Given the description of an element on the screen output the (x, y) to click on. 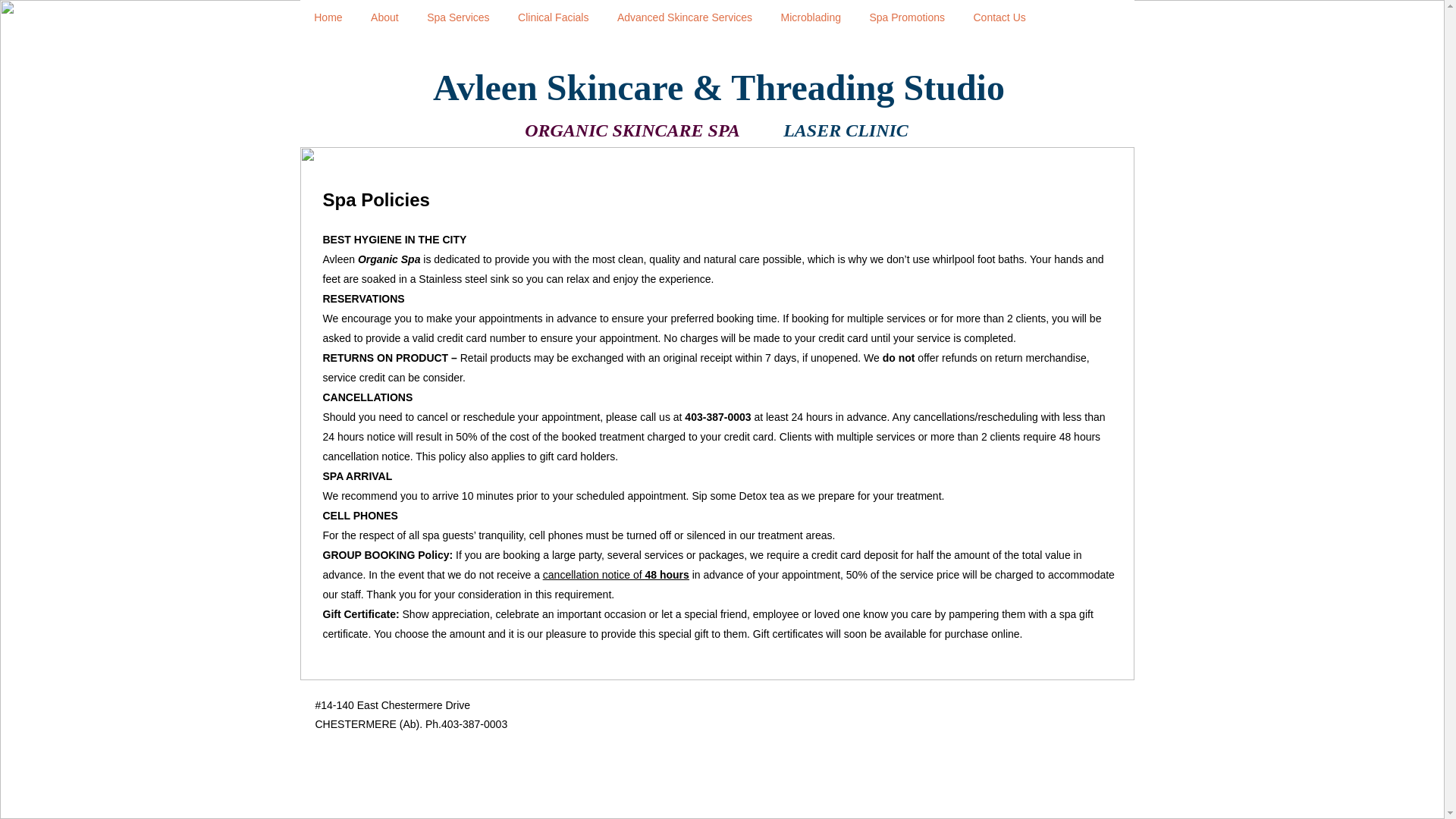
Home Element type: text (328, 17)
Microblading Element type: text (810, 17)
Clinical Facials Element type: text (552, 17)
Spa Promotions Element type: text (907, 17)
Spa Services Element type: text (457, 17)
Contact Us Element type: text (999, 17)
About Element type: text (384, 17)
Advanced Skincare Services Element type: text (684, 17)
